Given the description of an element on the screen output the (x, y) to click on. 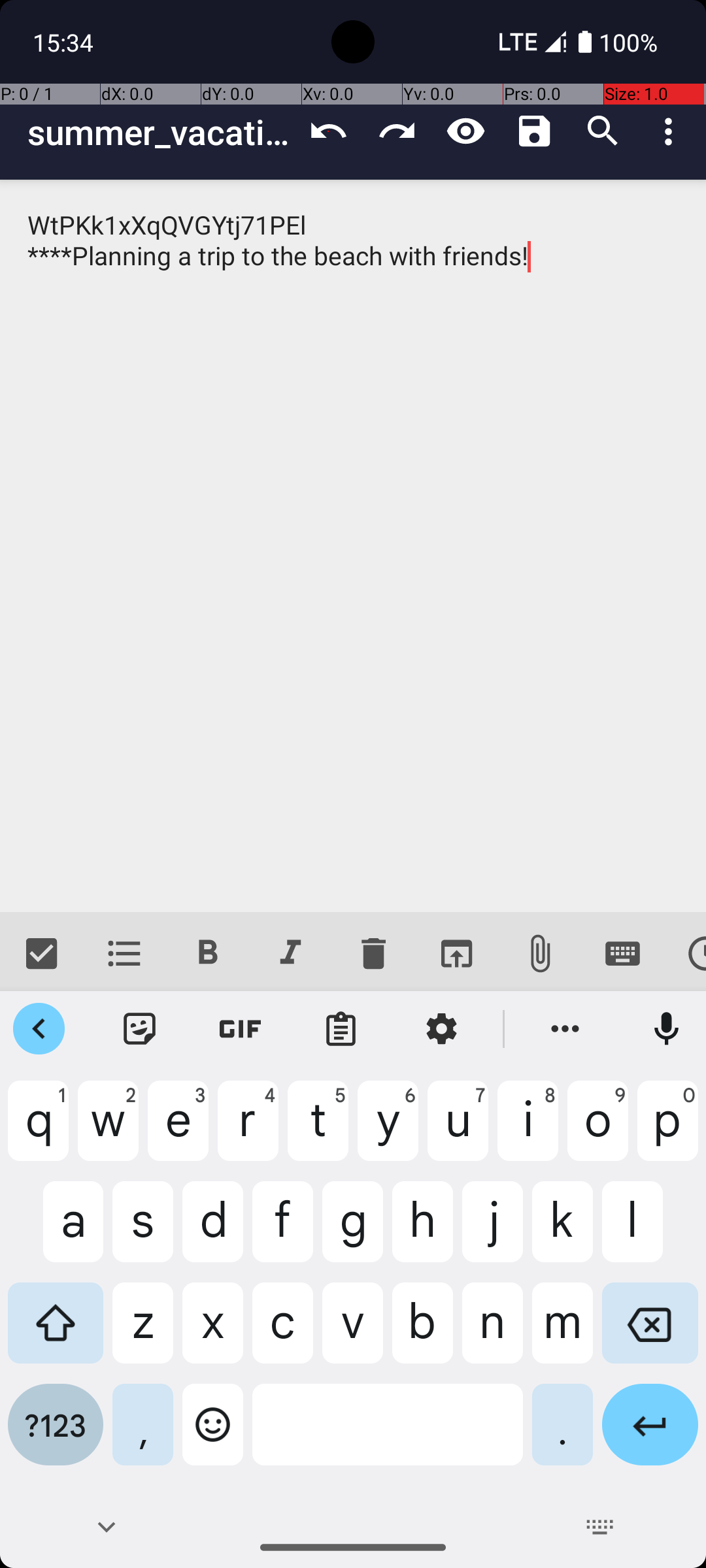
summer_vacation_plans_ZDk8 Element type: android.widget.TextView (160, 131)
WtPKk1xXqQVGYtj71PEl
****Planning a trip to the beach with friends!
 Element type: android.widget.EditText (353, 545)
